Given the description of an element on the screen output the (x, y) to click on. 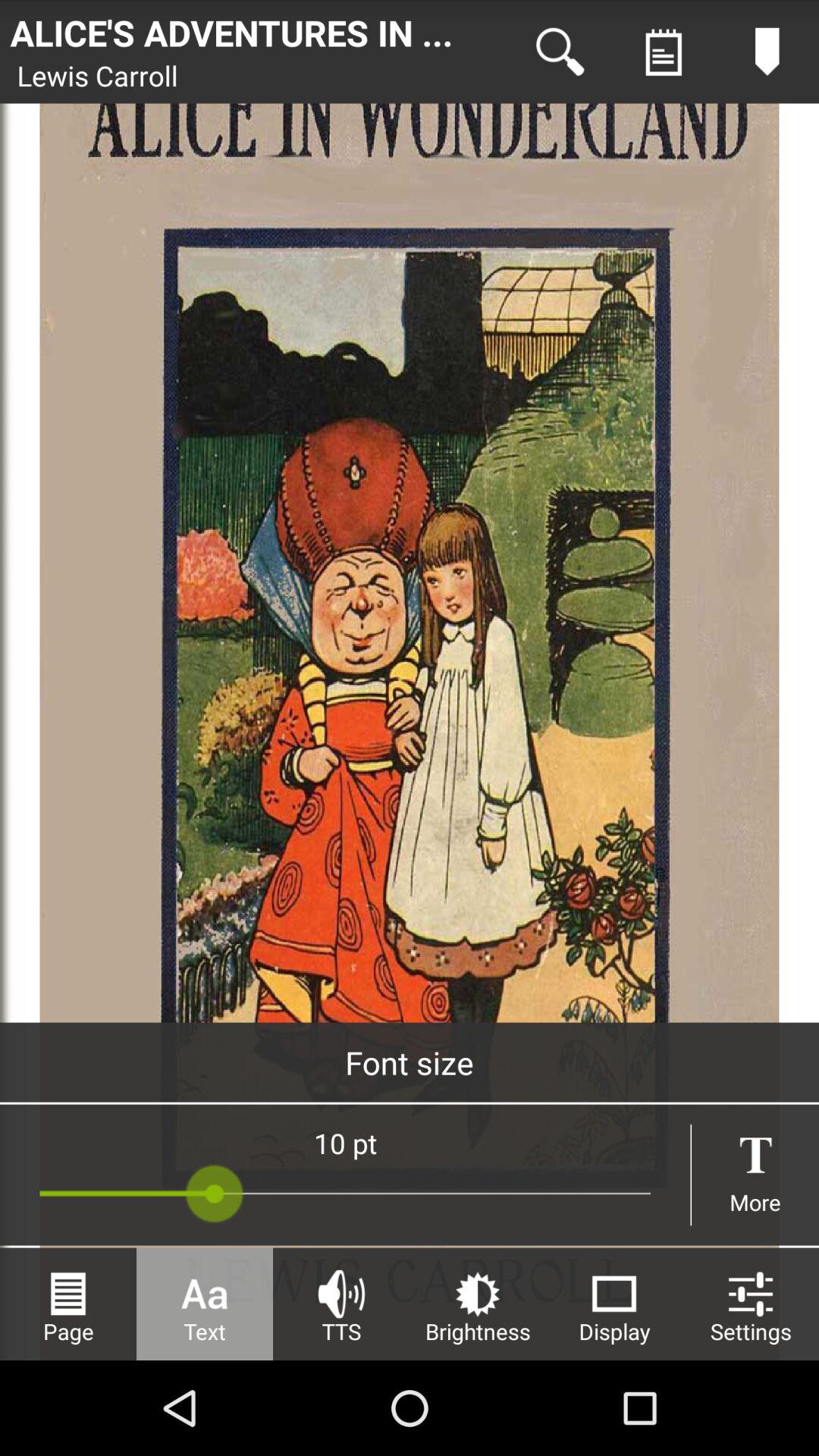
bookmark this page (767, 51)
